Given the description of an element on the screen output the (x, y) to click on. 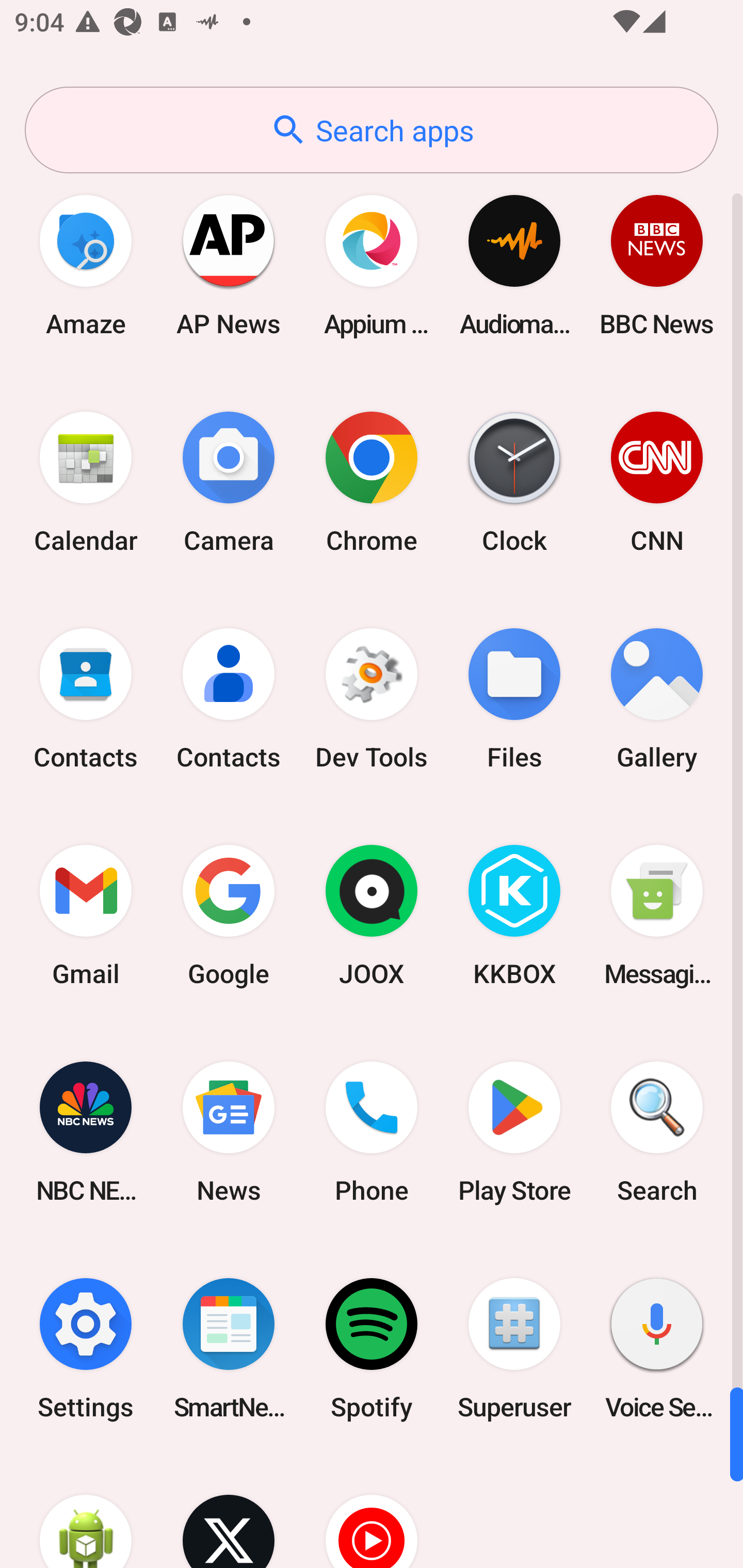
  Search apps (371, 130)
Amaze (85, 264)
AP News (228, 264)
Appium Settings (371, 264)
Audio­mack (514, 264)
BBC News (656, 264)
Calendar (85, 482)
Camera (228, 482)
Chrome (371, 482)
Clock (514, 482)
CNN (656, 482)
Contacts (85, 699)
Contacts (228, 699)
Dev Tools (371, 699)
Files (514, 699)
Gallery (656, 699)
Gmail (85, 915)
Google (228, 915)
JOOX (371, 915)
KKBOX (514, 915)
Messaging (656, 915)
NBC NEWS (85, 1131)
News (228, 1131)
Phone (371, 1131)
Play Store (514, 1131)
Search (656, 1131)
Settings (85, 1348)
SmartNews (228, 1348)
Spotify (371, 1348)
Superuser (514, 1348)
